Given the description of an element on the screen output the (x, y) to click on. 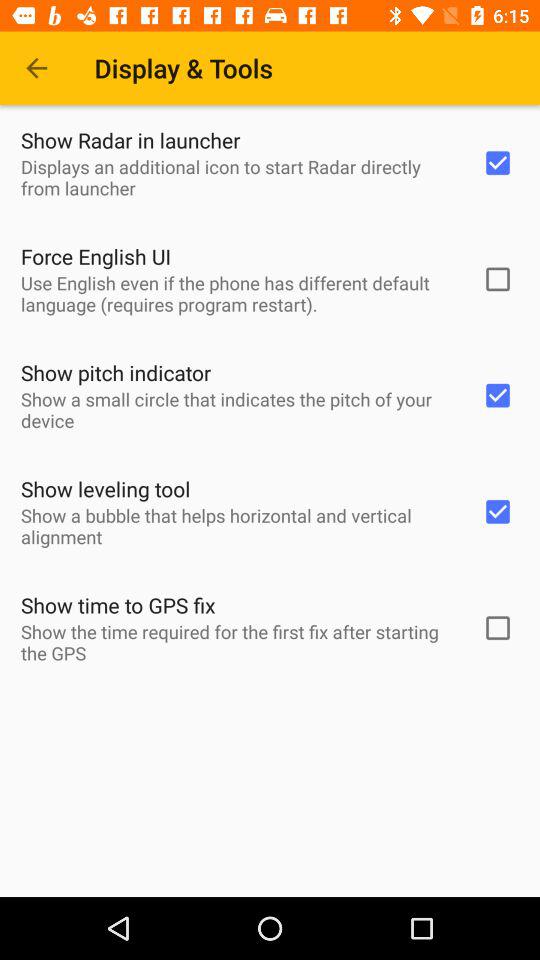
launch the icon next to the display & tools (36, 68)
